Given the description of an element on the screen output the (x, y) to click on. 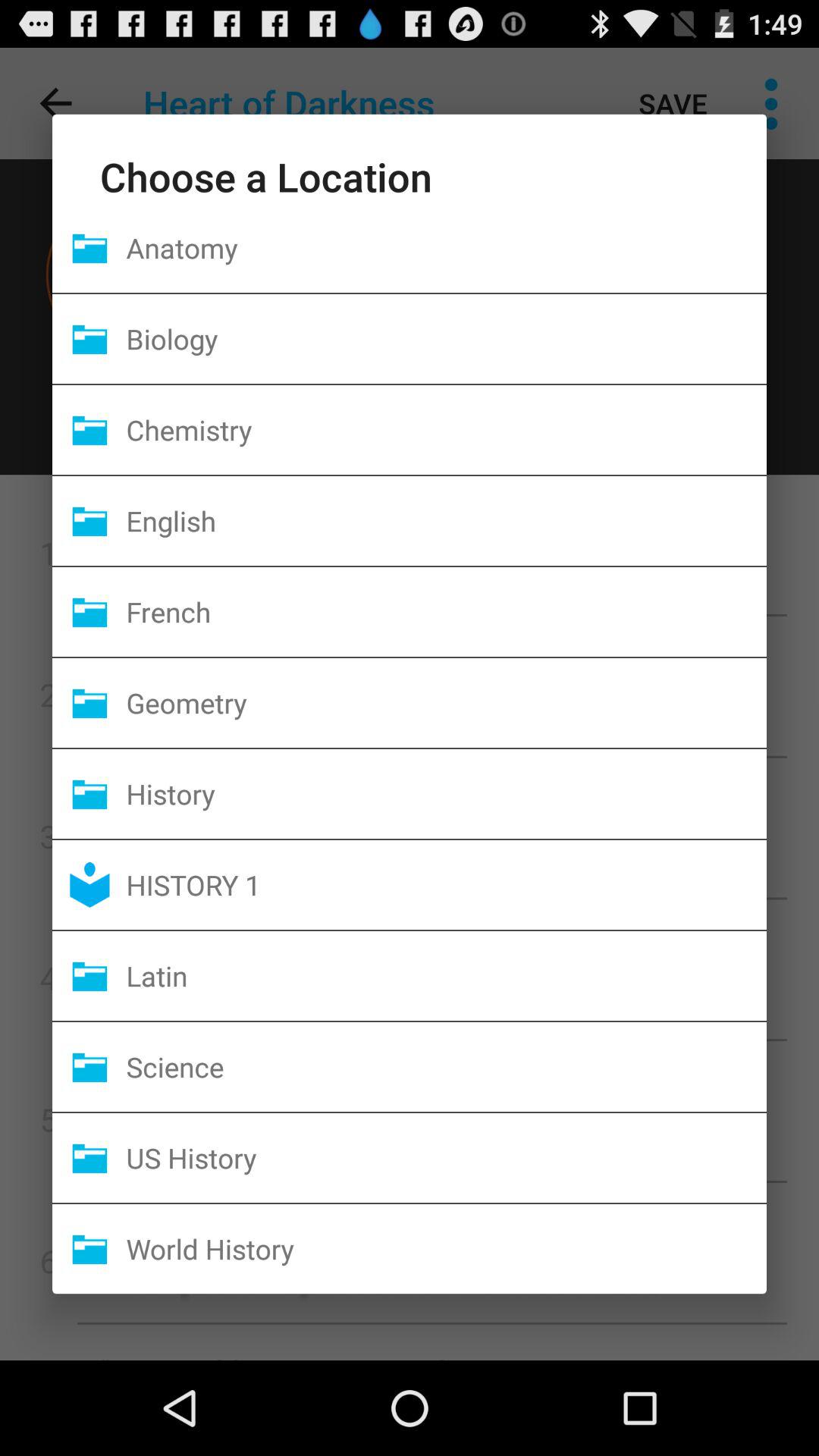
turn off history 1 item (446, 884)
